Given the description of an element on the screen output the (x, y) to click on. 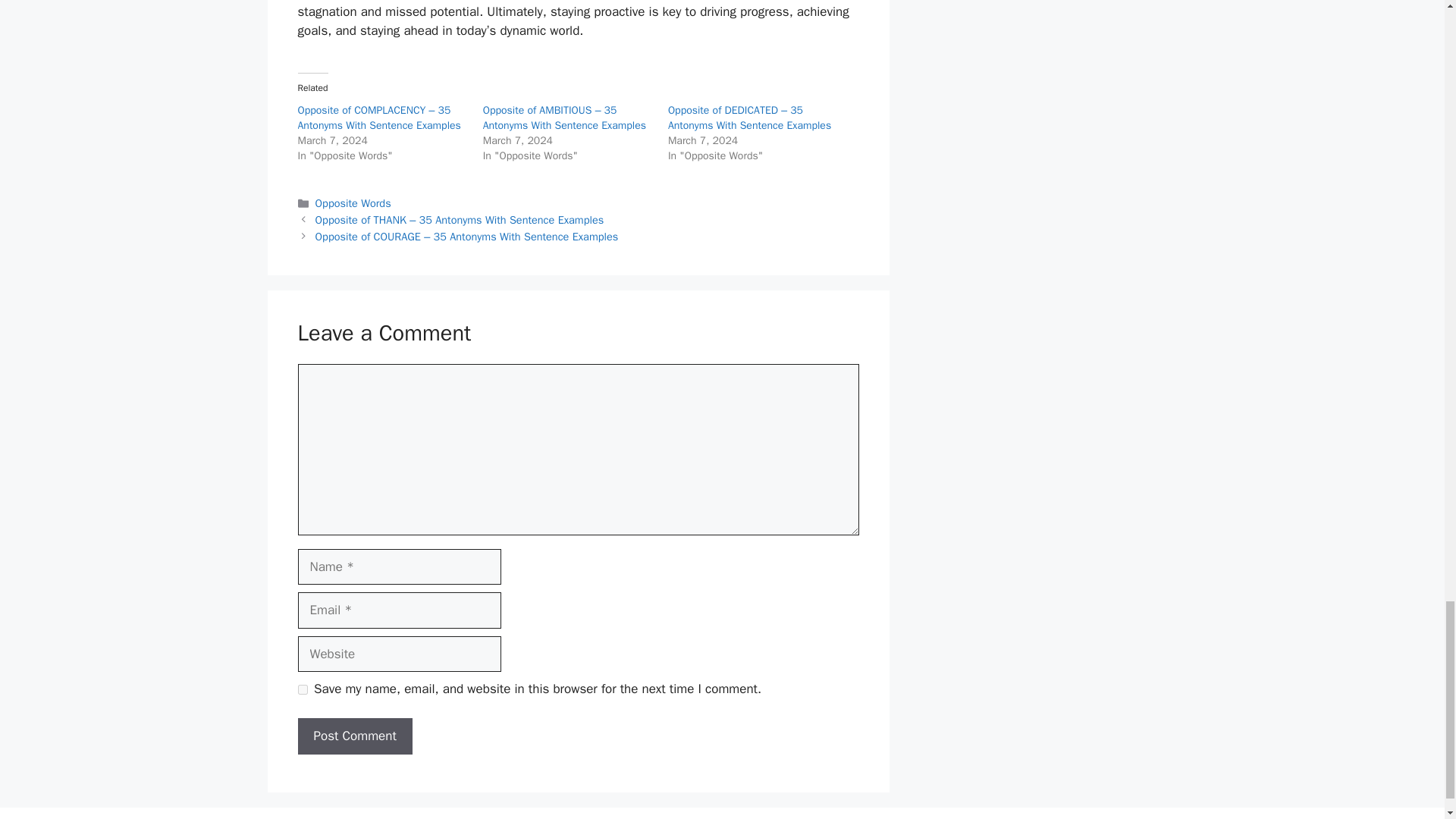
yes (302, 689)
Opposite Words (353, 202)
Post Comment (354, 736)
Post Comment (354, 736)
